Given the description of an element on the screen output the (x, y) to click on. 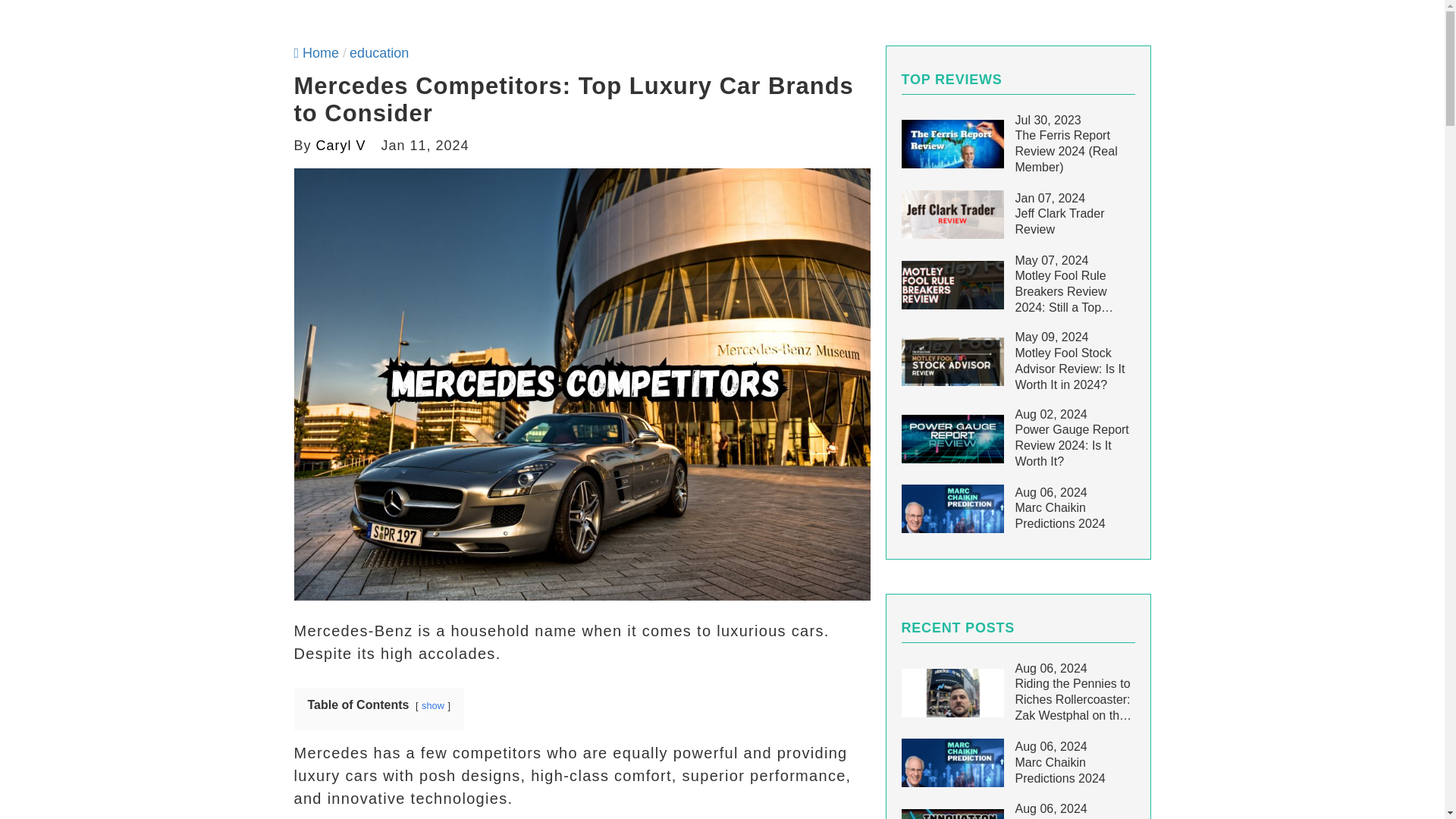
Home (316, 52)
education (379, 52)
Category Name (379, 52)
show (433, 705)
Caryl V (340, 145)
